Given the description of an element on the screen output the (x, y) to click on. 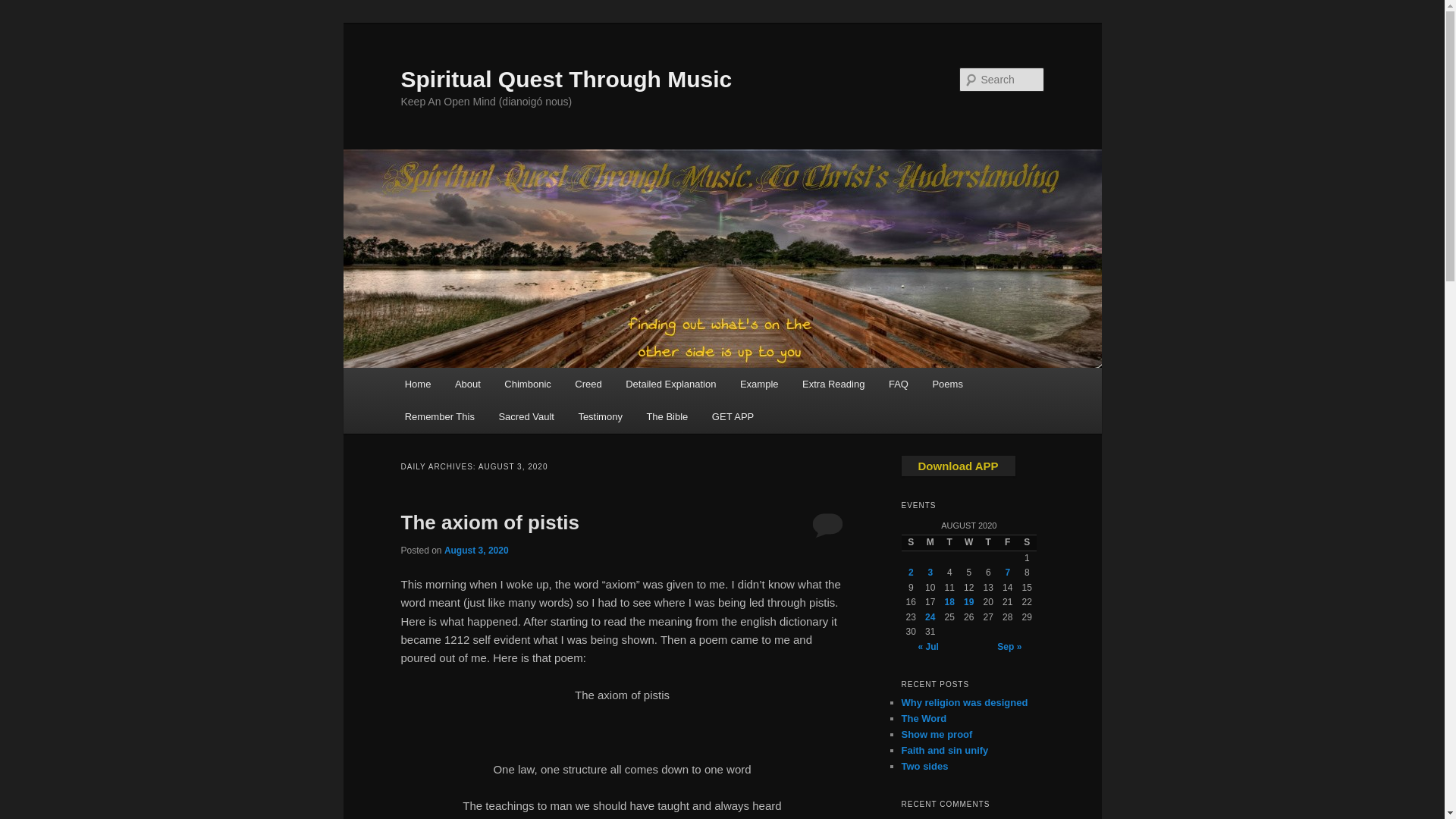
18 (949, 602)
Extra Reading (833, 383)
12:39 pm (476, 550)
Search (24, 8)
Tuesday (949, 542)
GET APP (732, 416)
Saturday (1026, 542)
Show me proof (936, 734)
Monday (930, 542)
Spiritual Quest Through Music (566, 78)
